Given the description of an element on the screen output the (x, y) to click on. 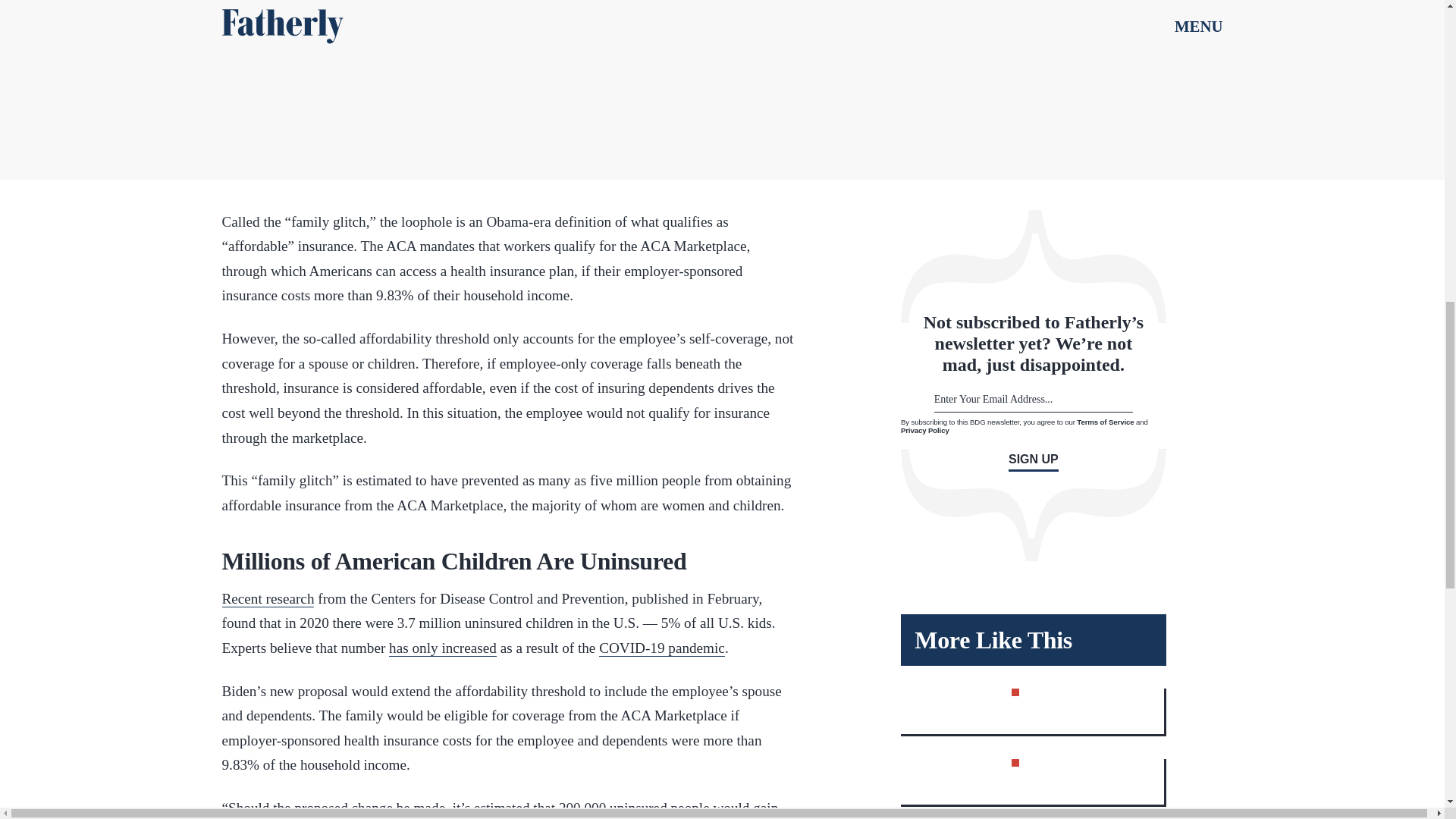
COVID-19 pandemic (661, 647)
SIGN UP (1033, 461)
Terms of Service (1105, 421)
Recent research (267, 598)
has only increased (442, 647)
Privacy Policy (925, 429)
